Given the description of an element on the screen output the (x, y) to click on. 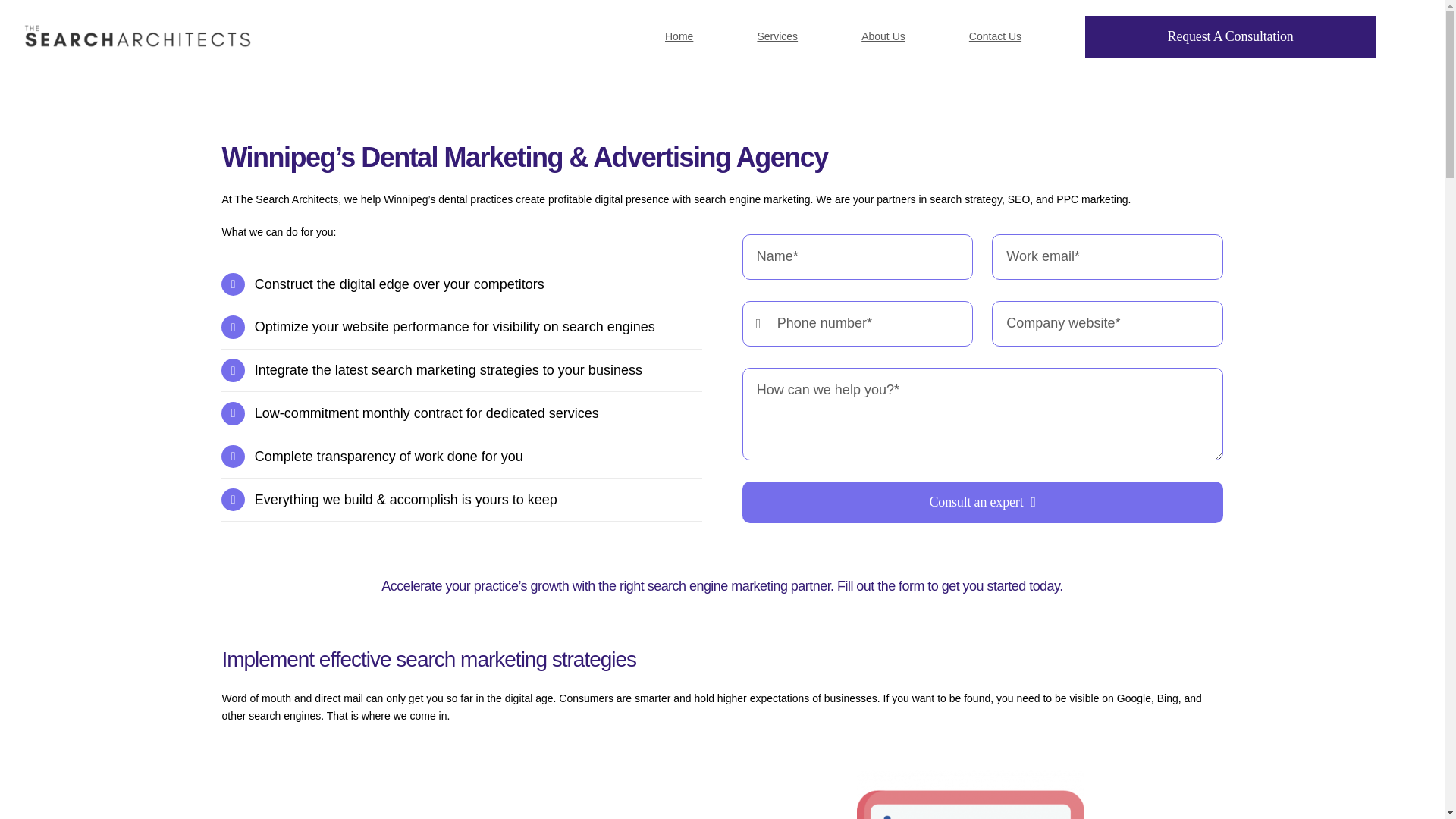
Contact Us (995, 36)
Request A Consultation (1229, 35)
About Us (883, 36)
web-search-engine (970, 794)
Services (777, 36)
Home (679, 36)
Consult an expert (982, 445)
Consult an expert (982, 502)
Only numbers and phone characters are accepted. (857, 323)
